Given the description of an element on the screen output the (x, y) to click on. 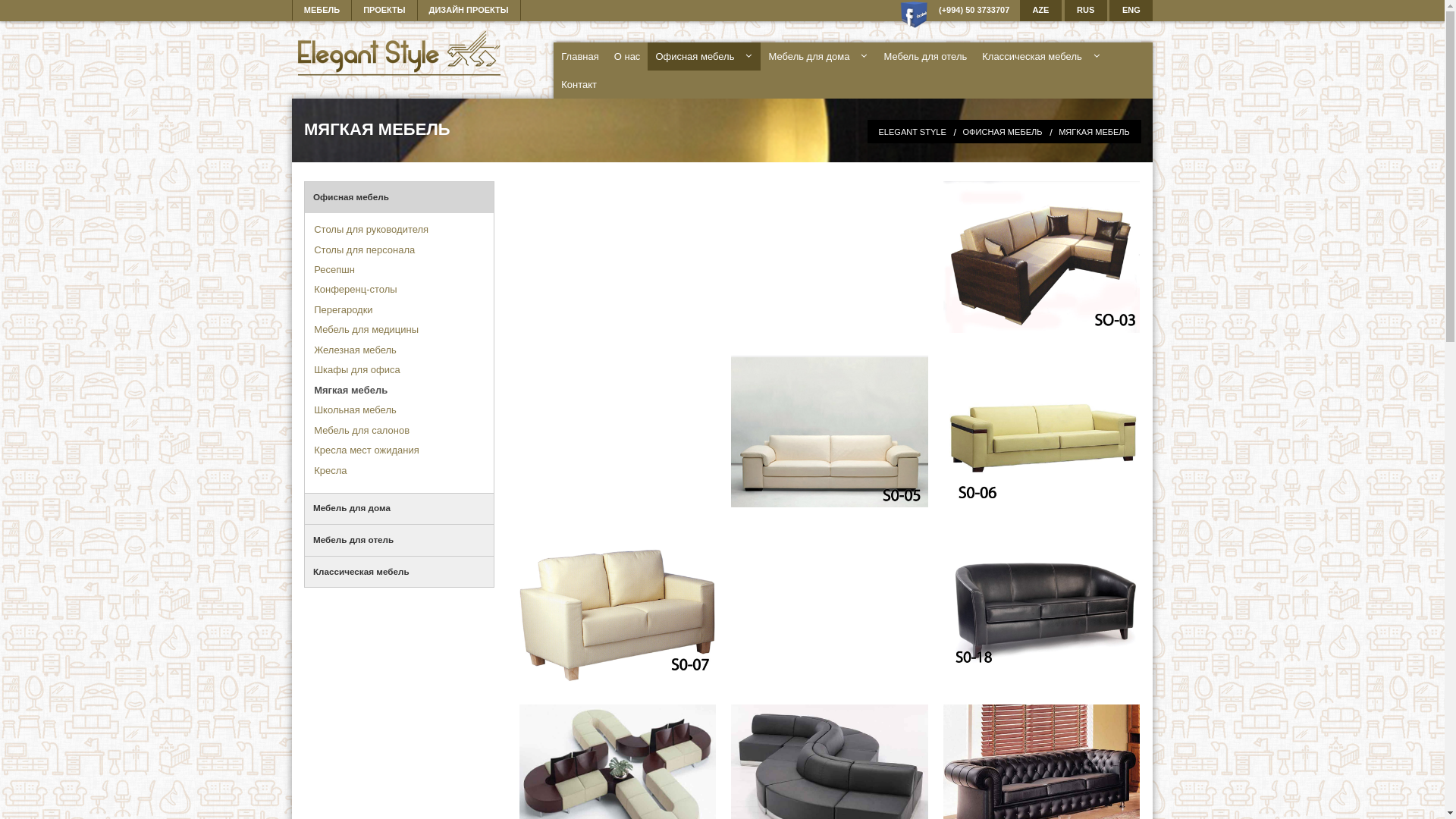
AZE Element type: text (1040, 10)
ENG Element type: text (1130, 10)
ELEGANT STYLE Element type: text (911, 131)
RUS Element type: text (1085, 10)
